Given the description of an element on the screen output the (x, y) to click on. 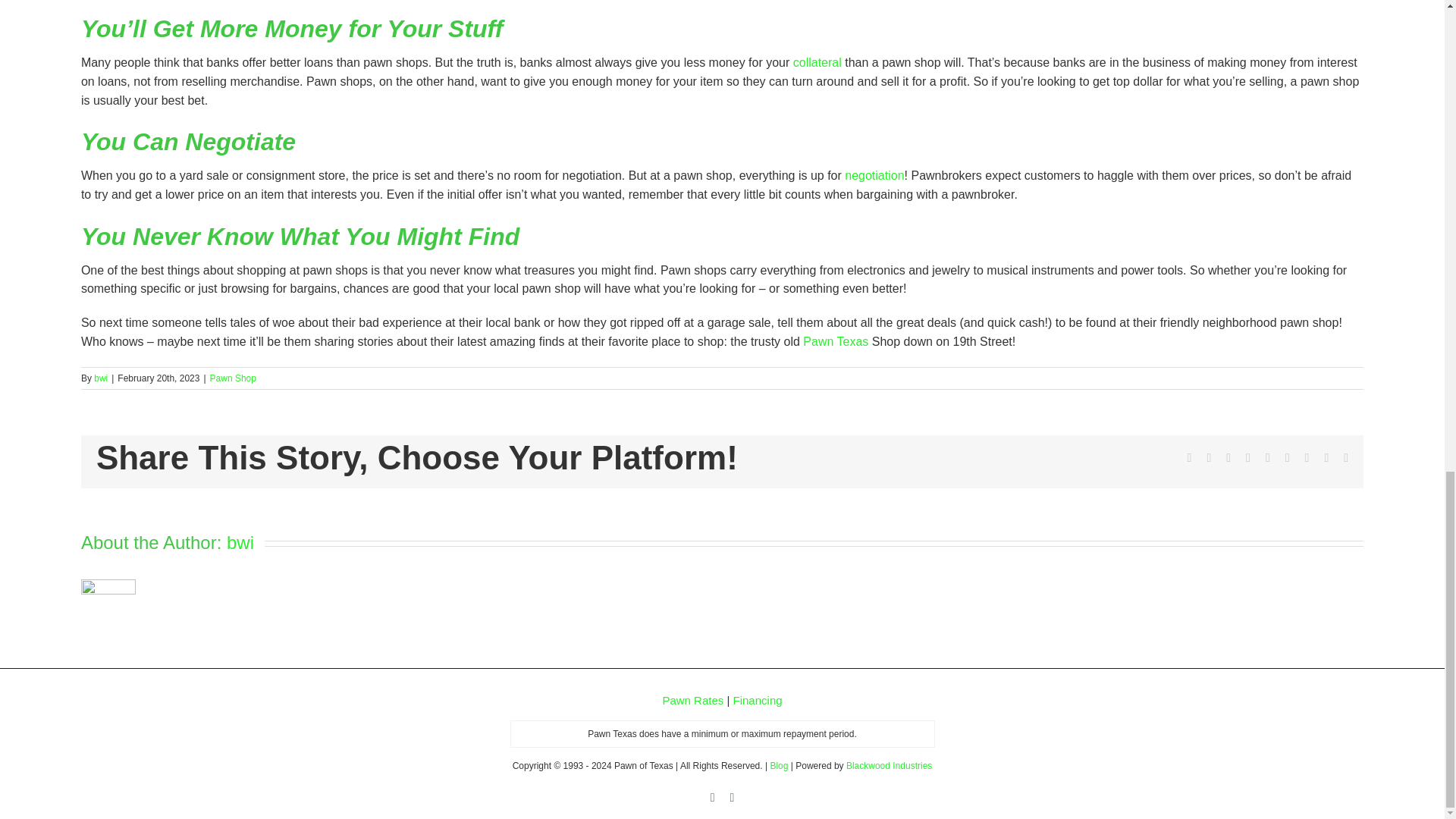
Pawn Shop (232, 378)
Financing (758, 699)
Loan Rates (692, 699)
Posts by bwi (100, 378)
Blog (778, 765)
collateral (817, 62)
Posts by bwi (240, 542)
bwi (100, 378)
bwi (240, 542)
Pawn Rates (692, 699)
